Given the description of an element on the screen output the (x, y) to click on. 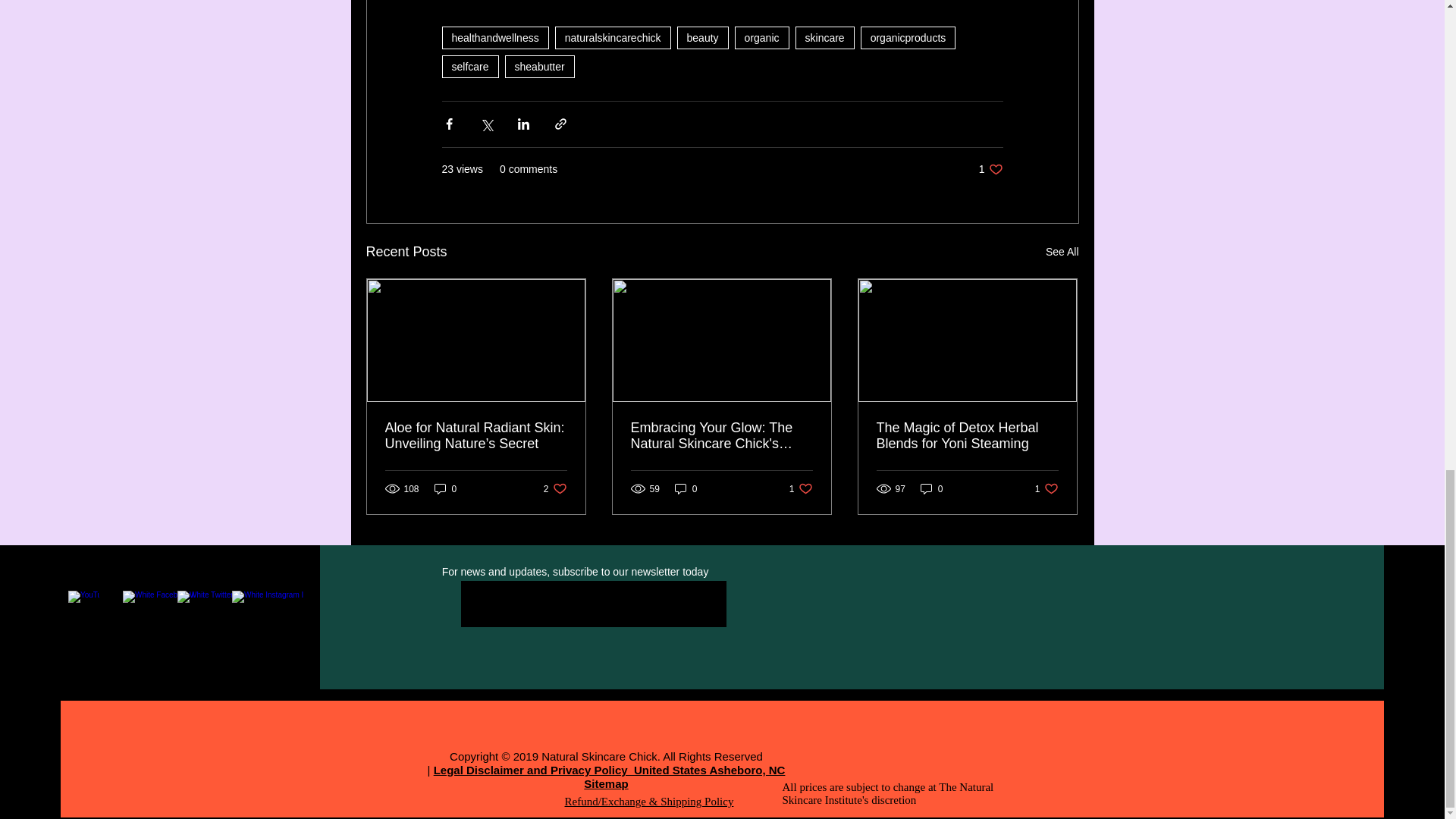
organic (990, 169)
selfcare (762, 37)
See All (469, 66)
skincare (1061, 251)
healthandwellness (824, 37)
beauty (494, 37)
naturalskincarechick (703, 37)
sheabutter (612, 37)
organicproducts (540, 66)
